Given the description of an element on the screen output the (x, y) to click on. 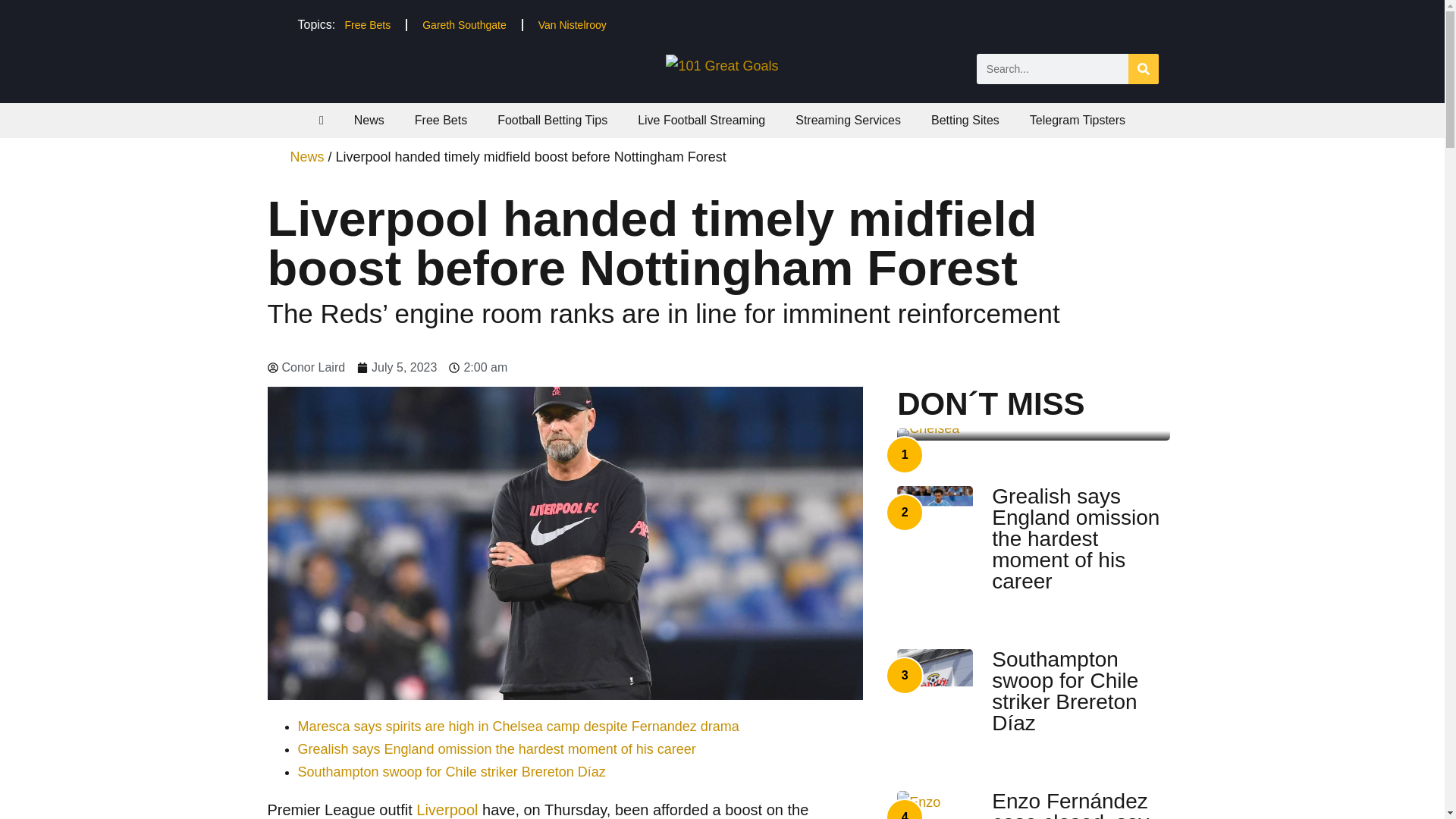
Gareth Southgate (464, 24)
Betting Sites (964, 120)
Free Bets (367, 24)
News (368, 120)
101 Great Goals (721, 65)
Football Betting Tips (552, 120)
Streaming Services (847, 120)
Van Nistelrooy (571, 24)
Free Bets (439, 120)
Live Football Streaming (701, 120)
